Given the description of an element on the screen output the (x, y) to click on. 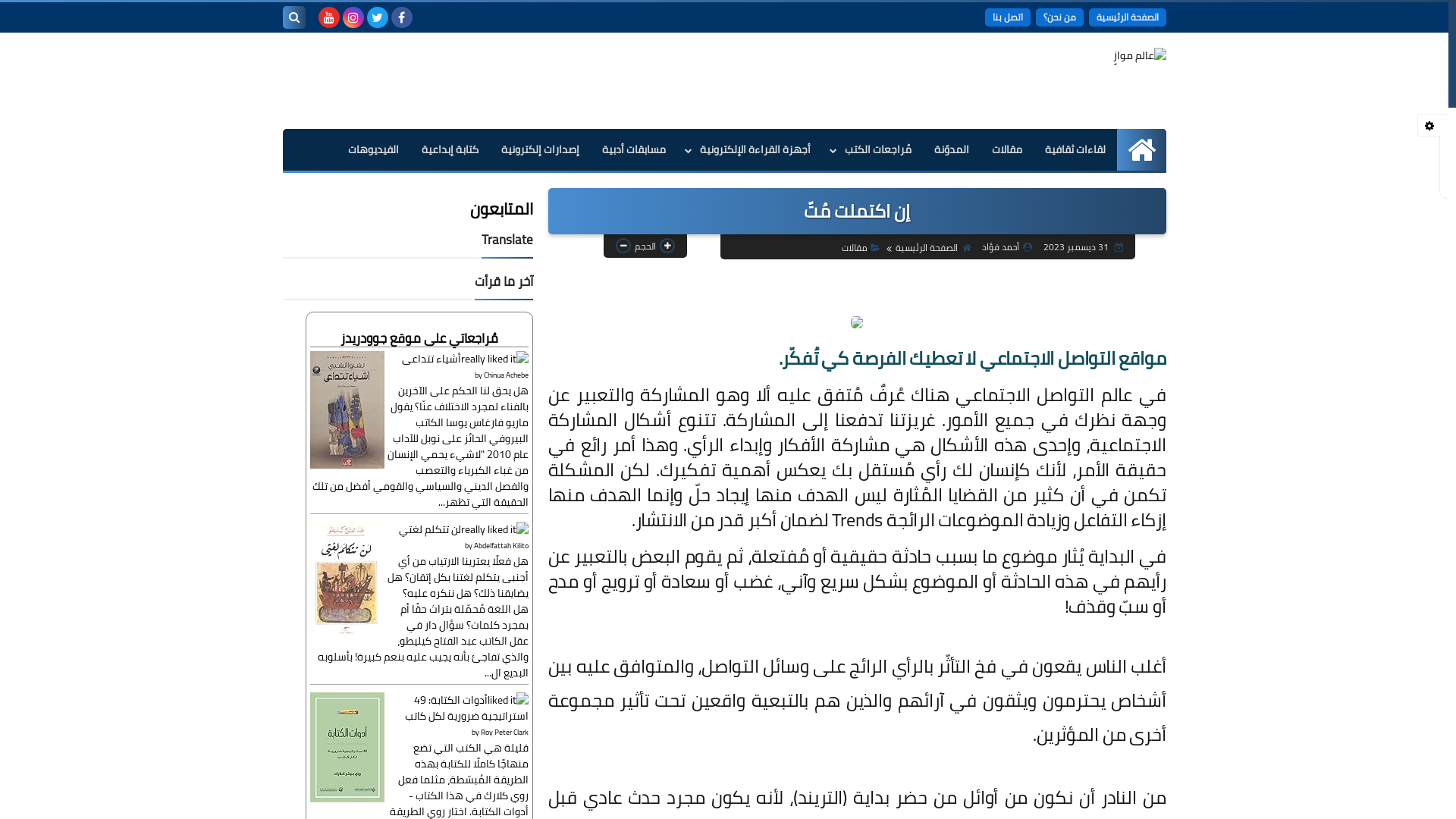
really liked it Element type: hover (494, 529)
facebook Element type: hover (401, 17)
Roy Peter Clark Element type: text (504, 731)
twitter Element type: hover (377, 17)
Chinua Achebe Element type: text (505, 374)
Abdelfattah Kilito Element type: text (500, 545)
youtube Element type: hover (328, 17)
liked it Element type: hover (506, 699)
really liked it Element type: hover (494, 358)
instagram Element type: hover (353, 17)
